Given the description of an element on the screen output the (x, y) to click on. 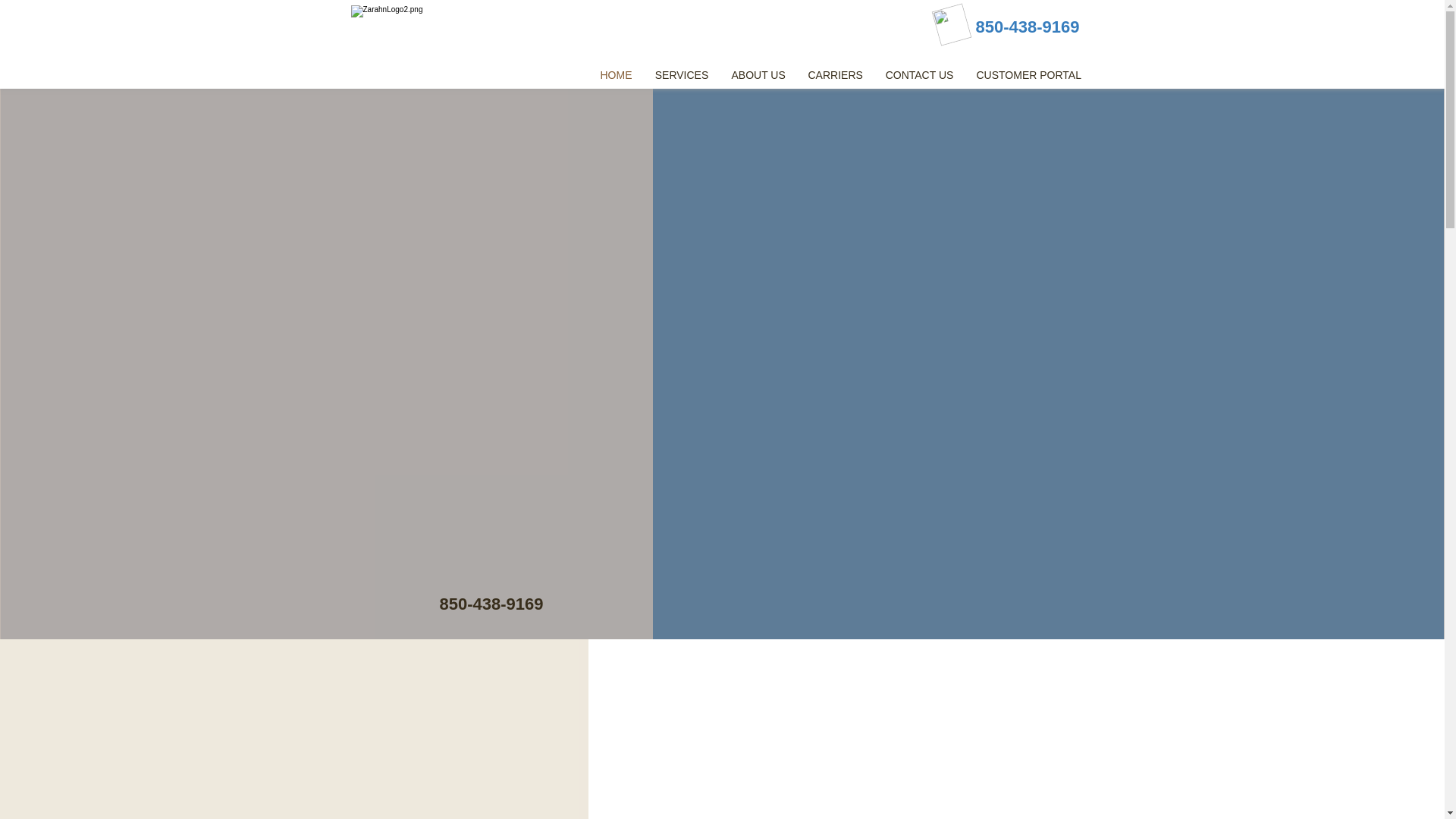
850-438-9169 (1026, 27)
850-438-9169 (491, 604)
CONTACT US (918, 75)
SERVICES (681, 75)
CUSTOMER PORTAL (1027, 75)
CARRIERS (834, 75)
HOME (615, 75)
ABOUT US (758, 75)
